Given the description of an element on the screen output the (x, y) to click on. 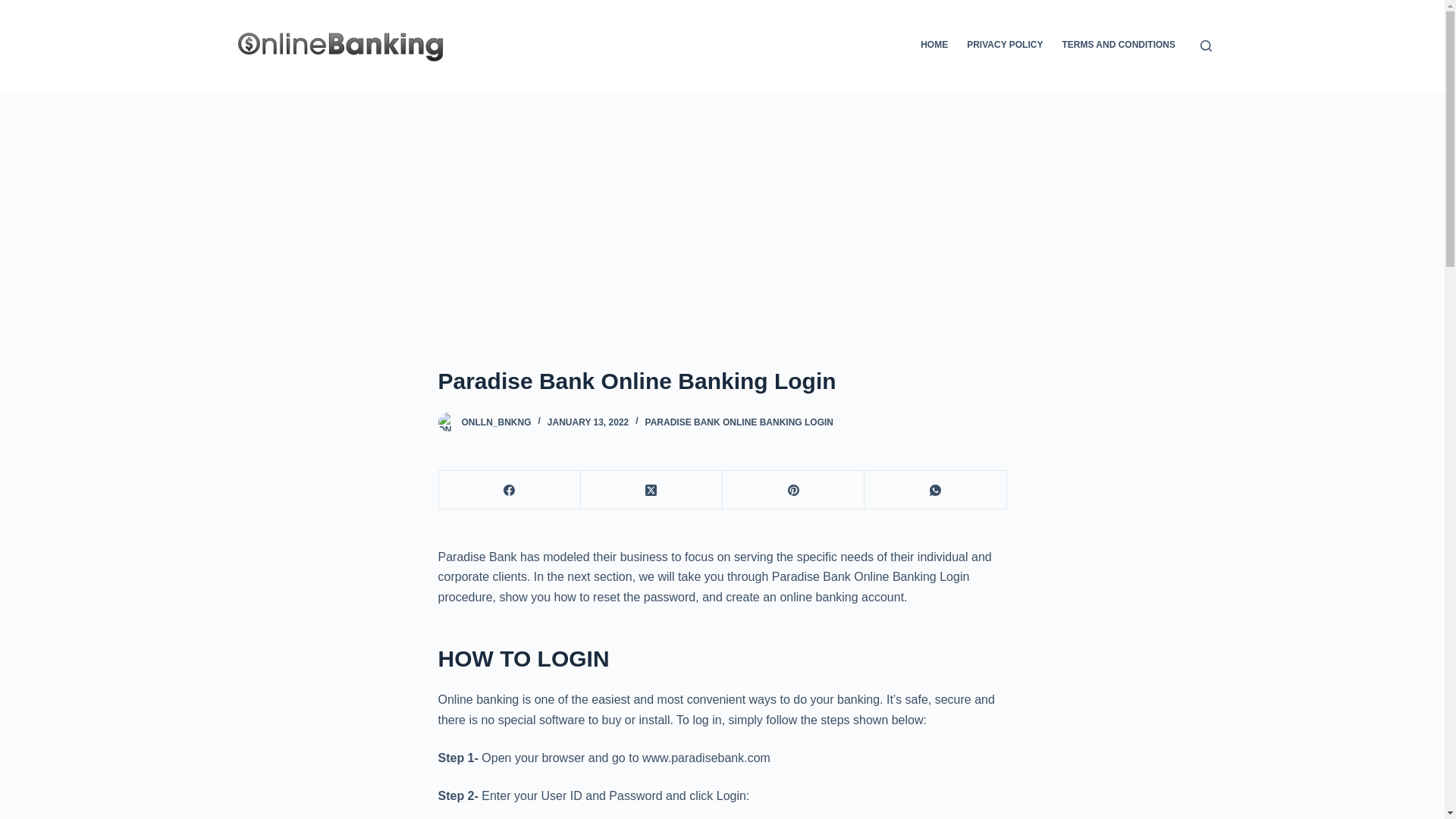
PRIVACY POLICY (1005, 45)
PARADISE BANK ONLINE BANKING LOGIN (738, 421)
Paradise Bank Online Banking Login (722, 380)
TERMS AND CONDITIONS (1118, 45)
Skip to content (15, 7)
